Given the description of an element on the screen output the (x, y) to click on. 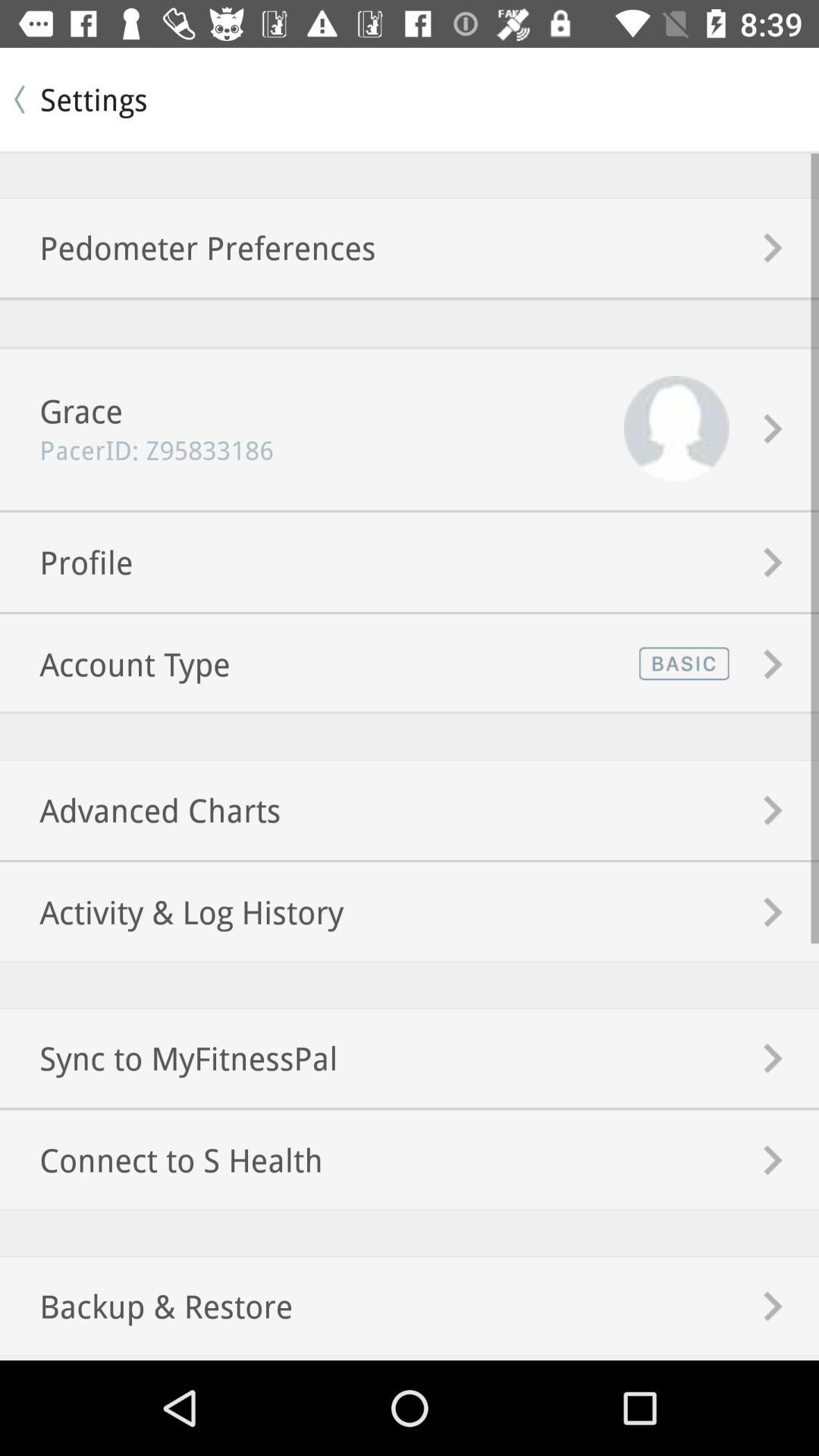
select item above account type item (66, 561)
